Given the description of an element on the screen output the (x, y) to click on. 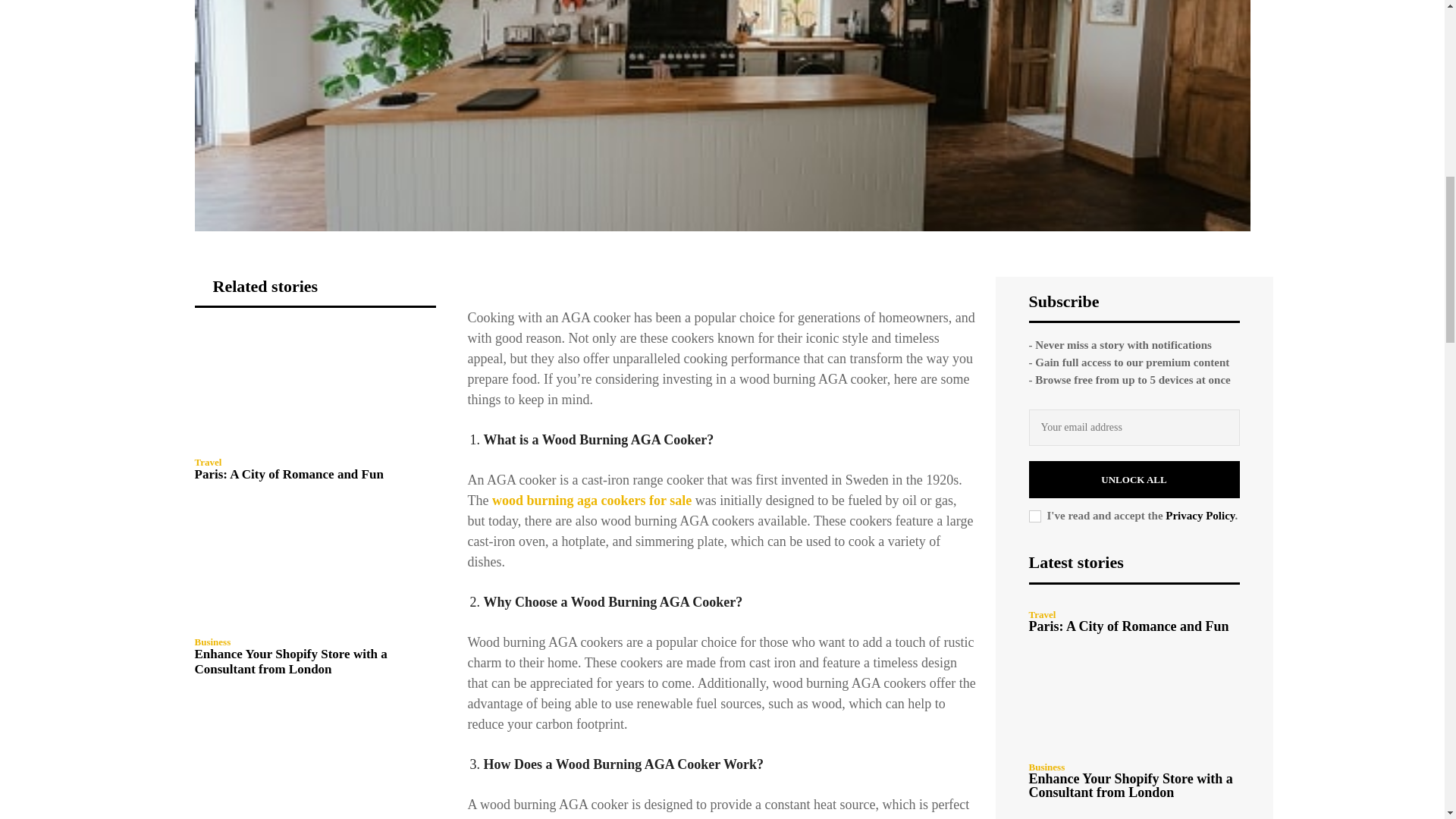
Paris: A City of Romance and Fun (314, 386)
Paris: A City of Romance and Fun (287, 473)
Enhance Your Shopify Store with a Consultant from London (314, 566)
